Given the description of an element on the screen output the (x, y) to click on. 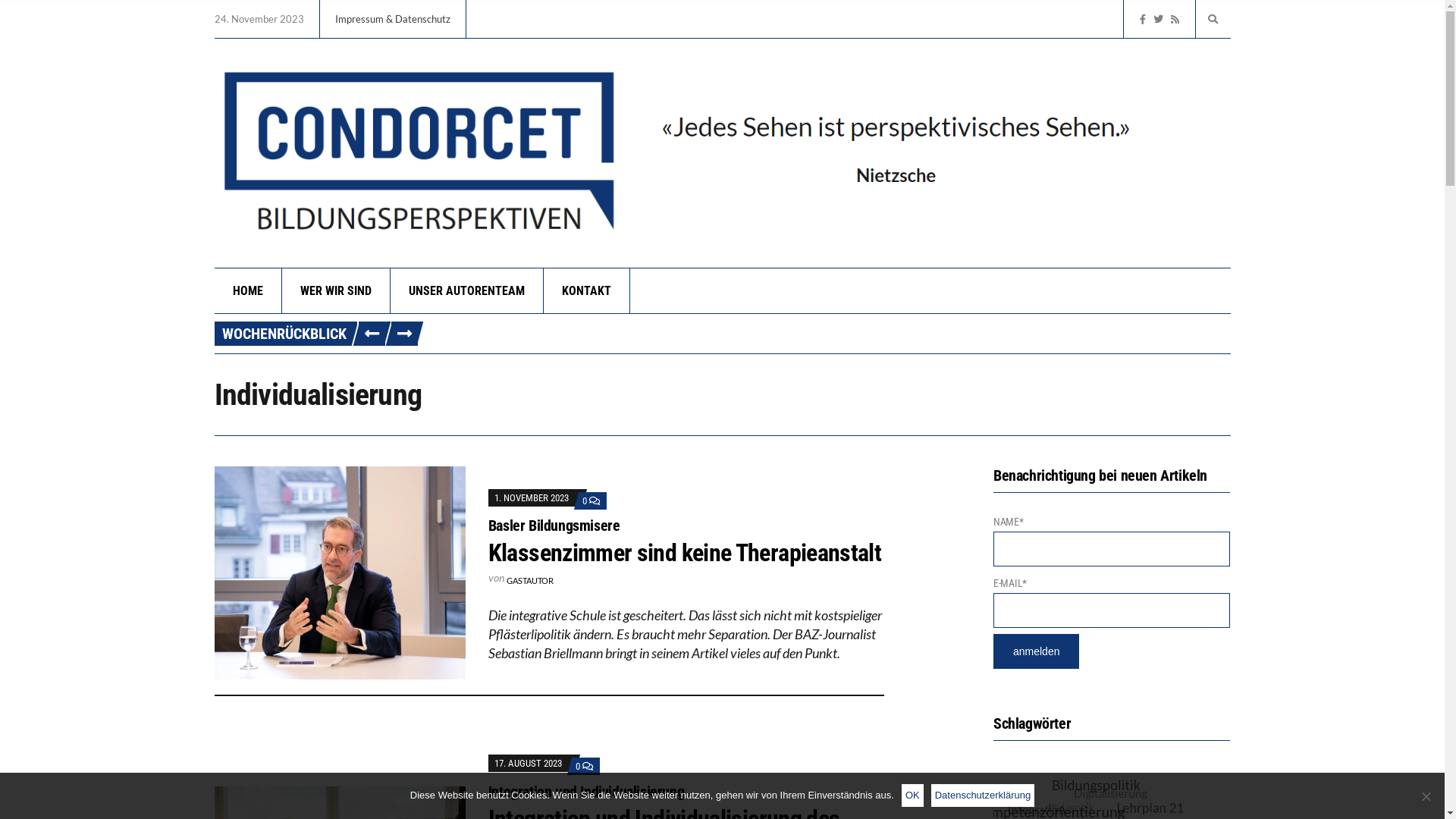
Impressum & Datenschutz Element type: text (392, 18)
OK Element type: text (912, 795)
WER WIR SIND Element type: text (336, 290)
0 Element type: text (584, 765)
Klassenzimmer sind keine Therapieanstalt Element type: text (684, 552)
anmelden Element type: text (1036, 650)
UNSER AUTORENTEAM Element type: text (465, 290)
GASTAUTOR Element type: text (529, 580)
KONTAKT Element type: text (585, 290)
HOME Element type: text (247, 290)
0 Element type: text (591, 500)
Nein Element type: hover (1425, 795)
